Given the description of an element on the screen output the (x, y) to click on. 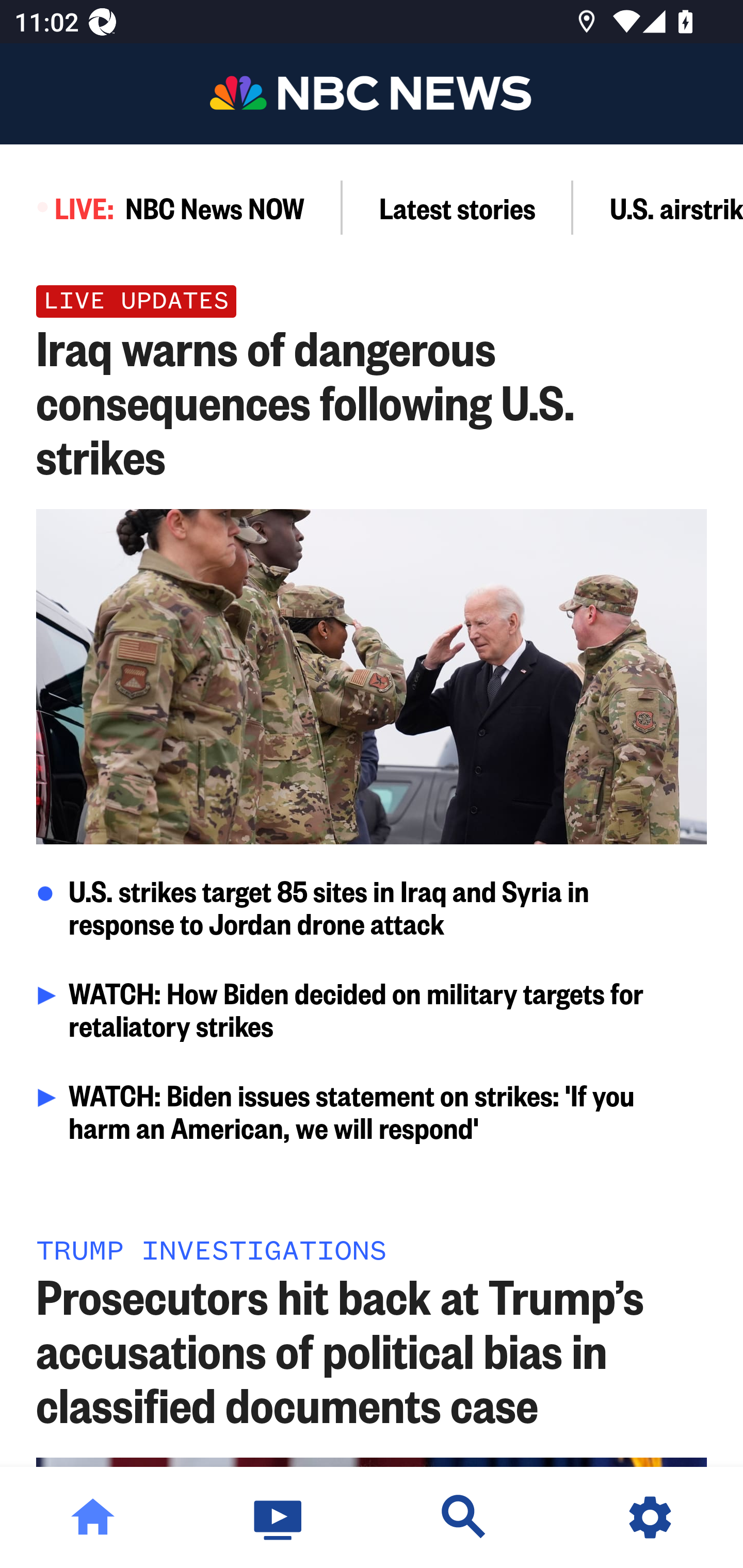
LIVE:  NBC News NOW (171, 207)
Latest stories Section,Latest stories (457, 207)
U.S. airstrikes (658, 207)
Watch (278, 1517)
Discover (464, 1517)
Settings (650, 1517)
